Given the description of an element on the screen output the (x, y) to click on. 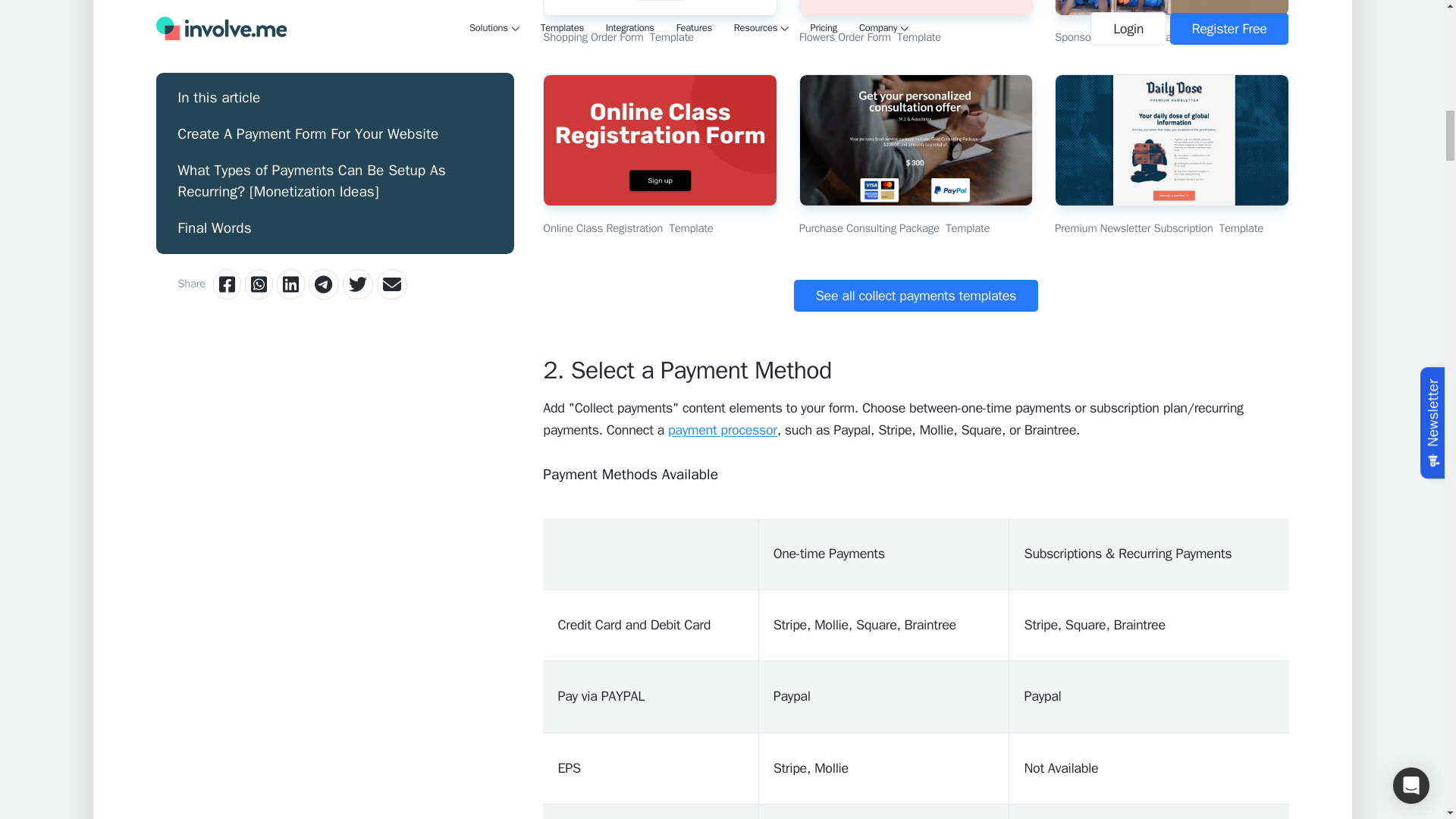
Online Class Registration Template (660, 154)
Shopping Order Form Template (660, 22)
Premium Newsletter Subscription Template (1171, 154)
Flowers Order Form Template (916, 22)
Purchase Consulting Package Template (916, 154)
Sponsor A Child Template (1171, 22)
